Given the description of an element on the screen output the (x, y) to click on. 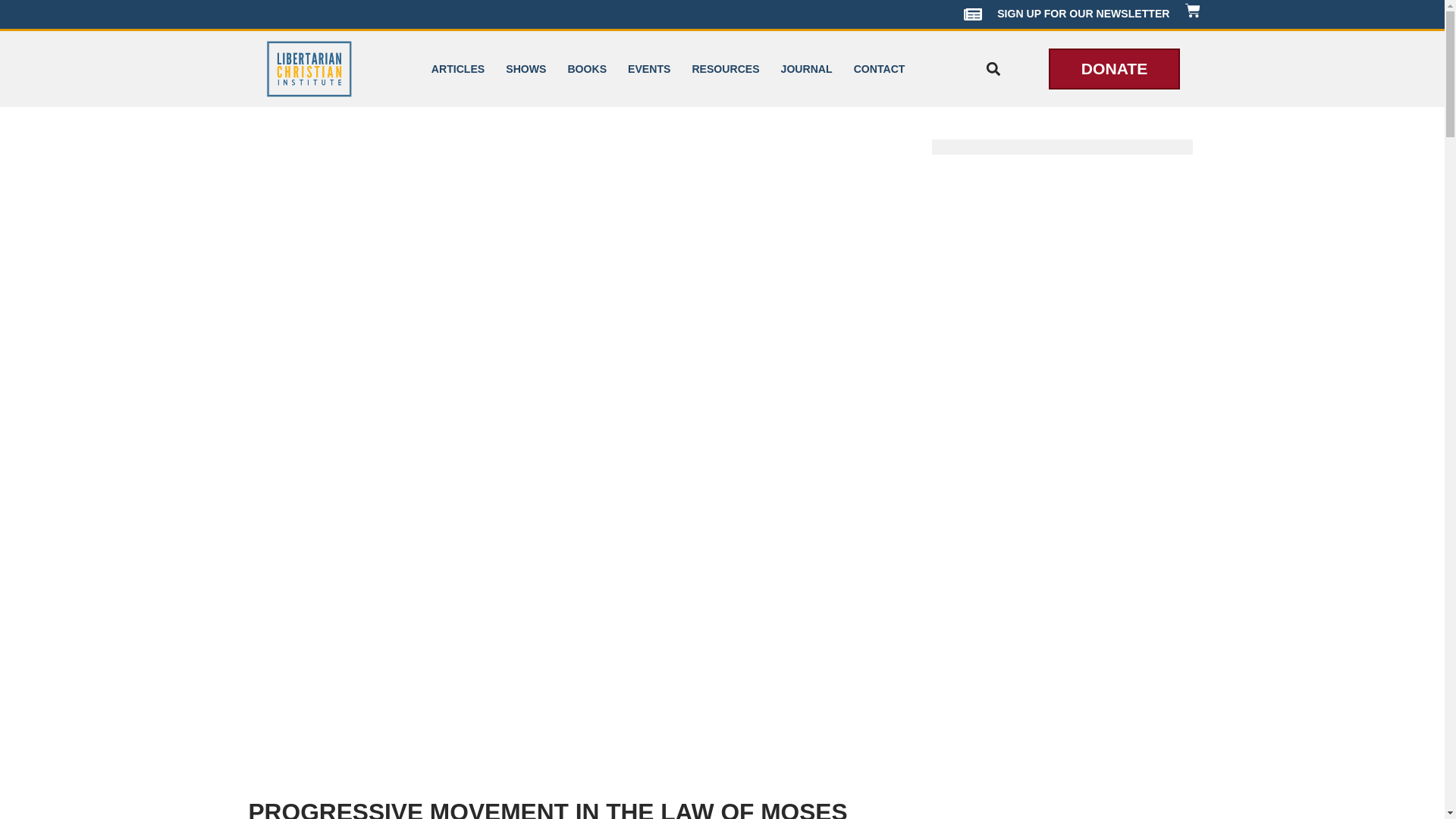
CONTACT (879, 68)
SIGN UP FOR OUR NEWSLETTER (1066, 14)
EVENTS (649, 68)
BOOKS (586, 68)
SHOWS (525, 68)
ARTICLES (457, 68)
JOURNAL (806, 68)
RESOURCES (725, 68)
